Given the description of an element on the screen output the (x, y) to click on. 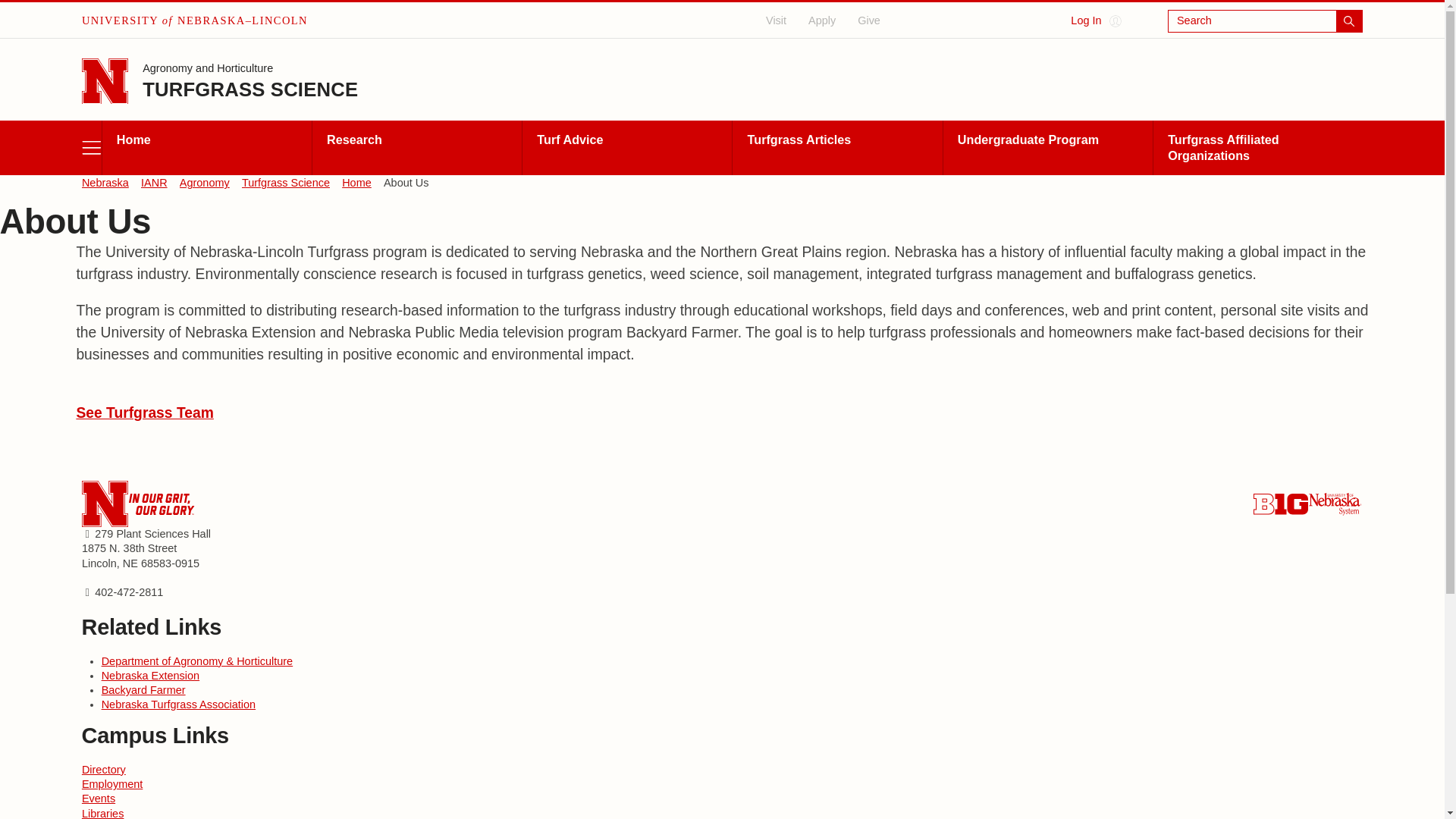
Visit (776, 20)
Log In (1095, 21)
Turfgrass Articles (837, 147)
Agronomy and Horticulture (207, 69)
Apply (822, 20)
Give (869, 20)
Turf Advice (626, 147)
Home (356, 183)
